Given the description of an element on the screen output the (x, y) to click on. 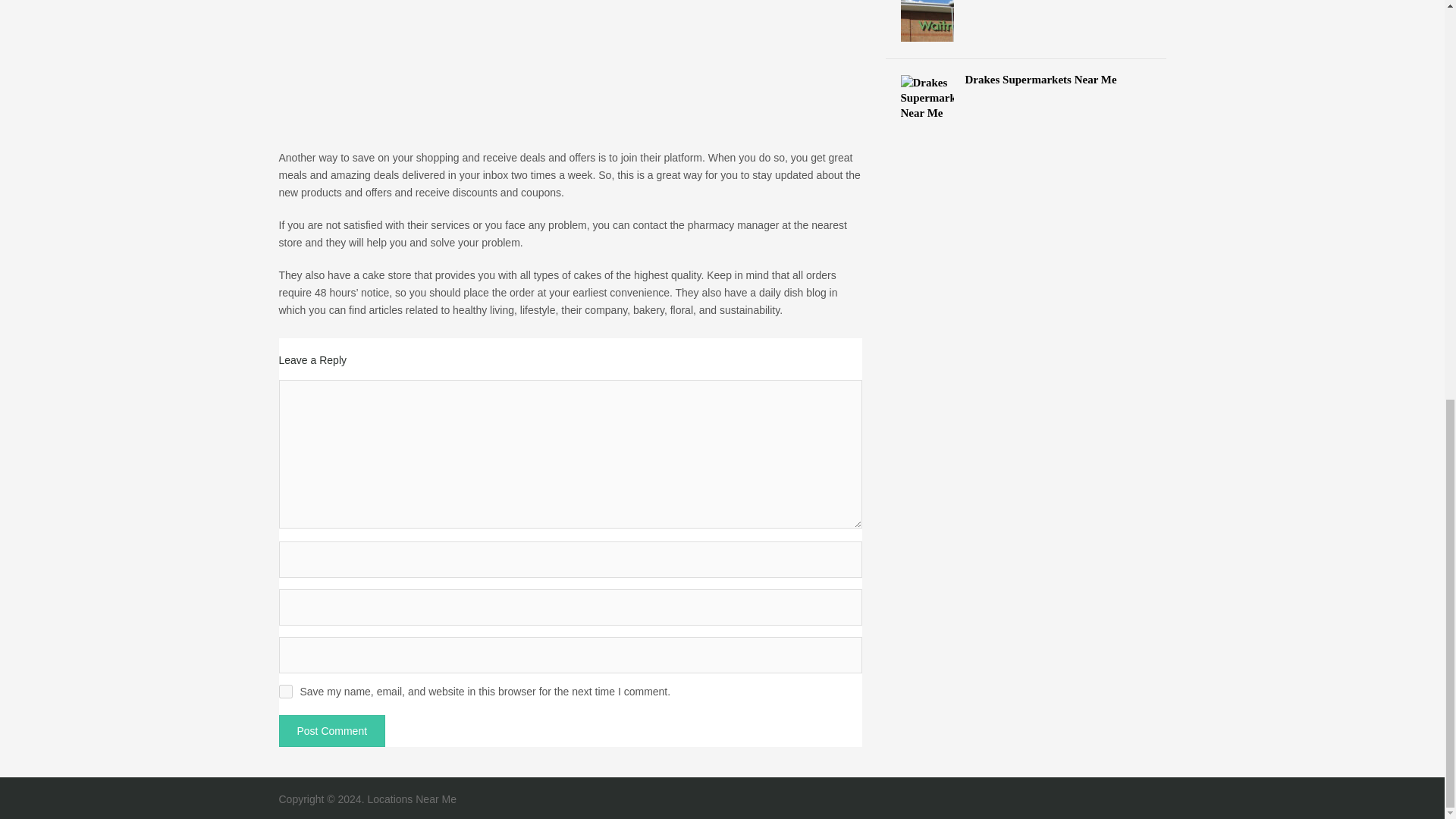
Post Comment (332, 730)
yes (285, 691)
Post Comment (332, 730)
Drakes Supermarkets Near Me (1026, 79)
